Given the description of an element on the screen output the (x, y) to click on. 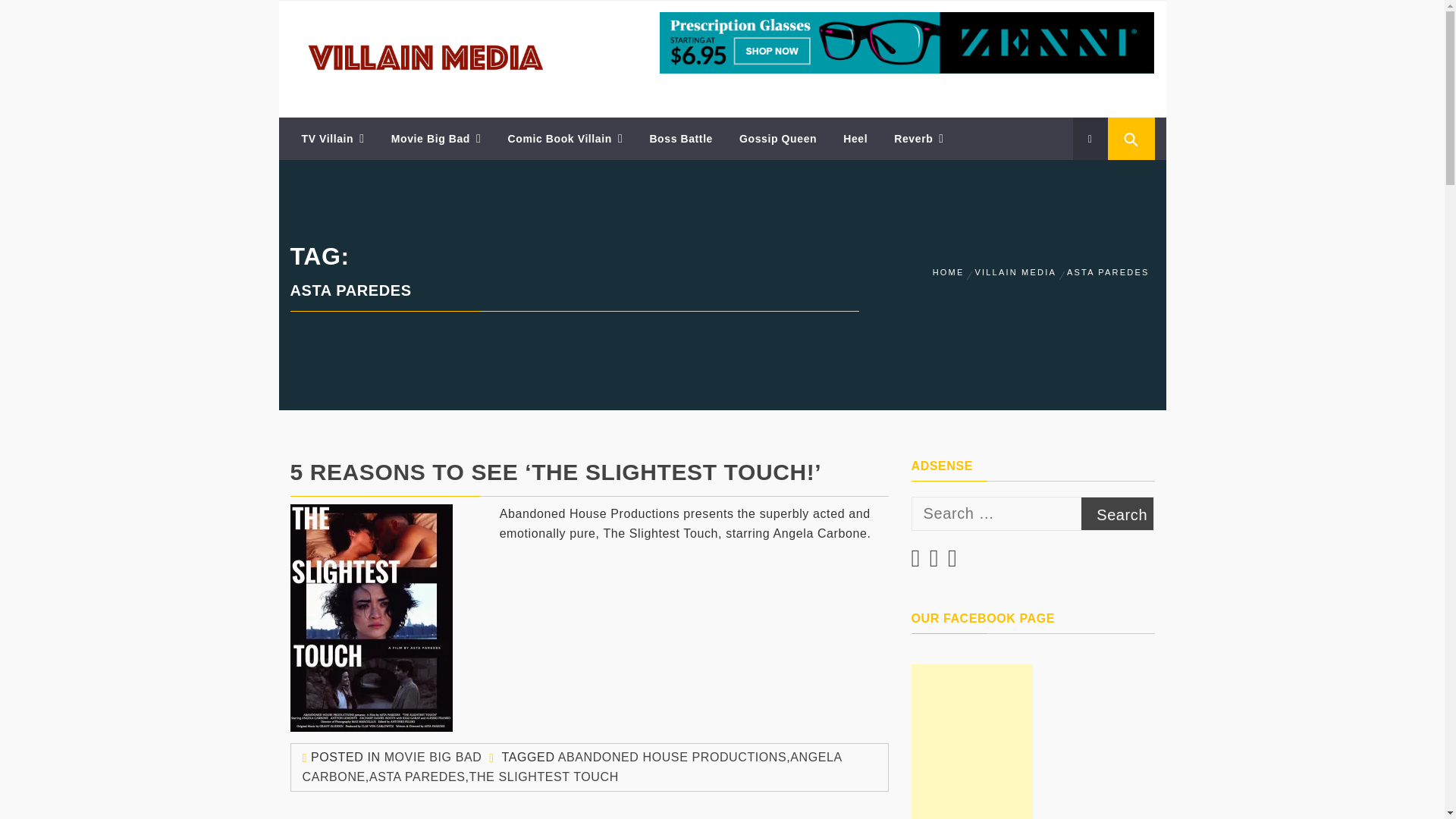
Comic Book Villain (565, 138)
Gossip Queen (778, 138)
VILLAIN MEDIA (370, 33)
Search (1117, 513)
Search (1117, 513)
Heel (855, 138)
TV Villain (332, 138)
Movie Big Bad (436, 138)
Reverb (918, 138)
Boss Battle (680, 138)
